Given the description of an element on the screen output the (x, y) to click on. 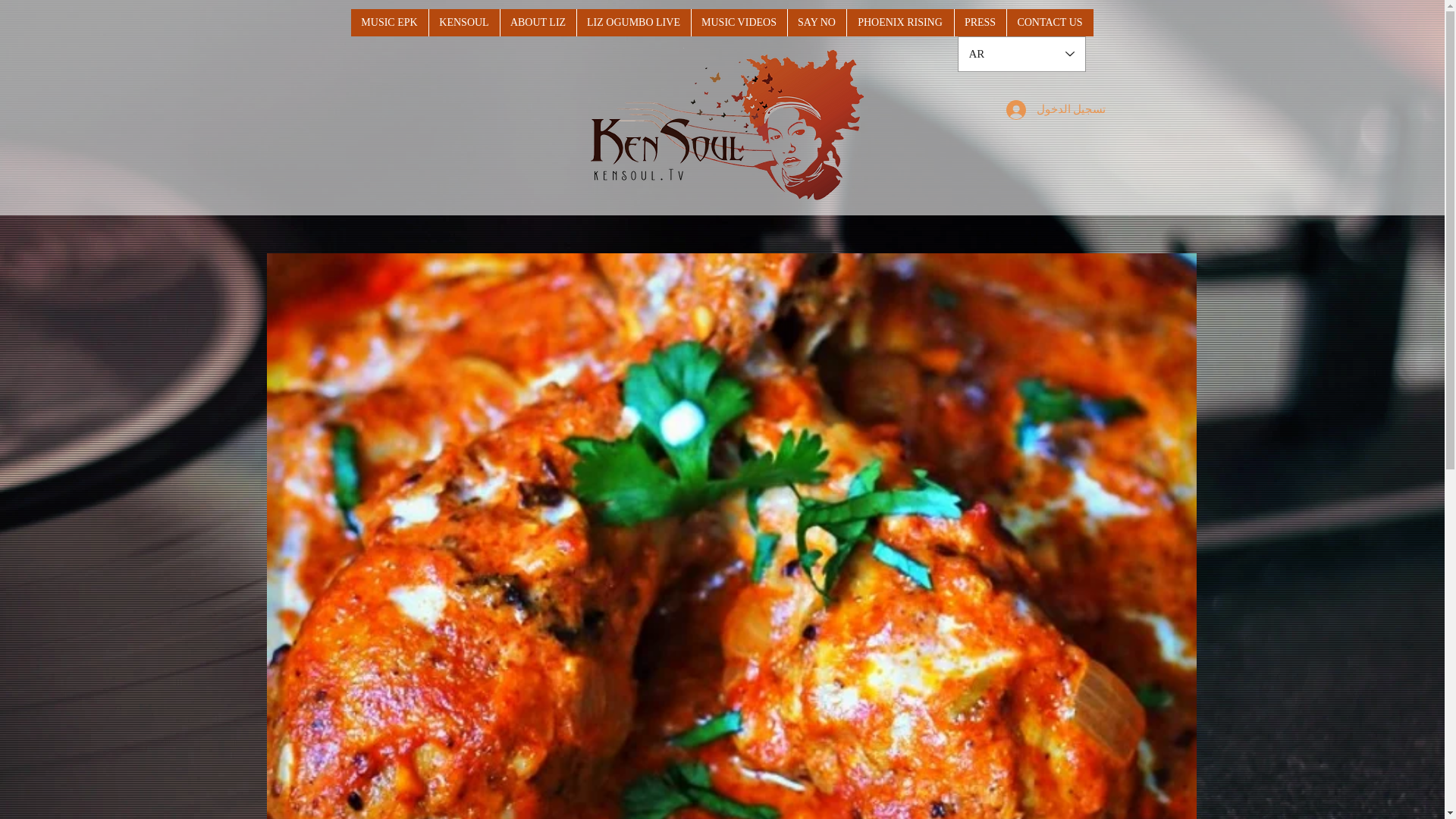
PHOENIX RISING (899, 22)
LIZ OGUMBO LIVE (633, 22)
MUSIC EPK (389, 22)
MUSIC VIDEOS (738, 22)
ABOUT LIZ (537, 22)
KENSOUL (463, 22)
CONTACT US (1049, 22)
SAY NO (816, 22)
PRESS (979, 22)
